Given the description of an element on the screen output the (x, y) to click on. 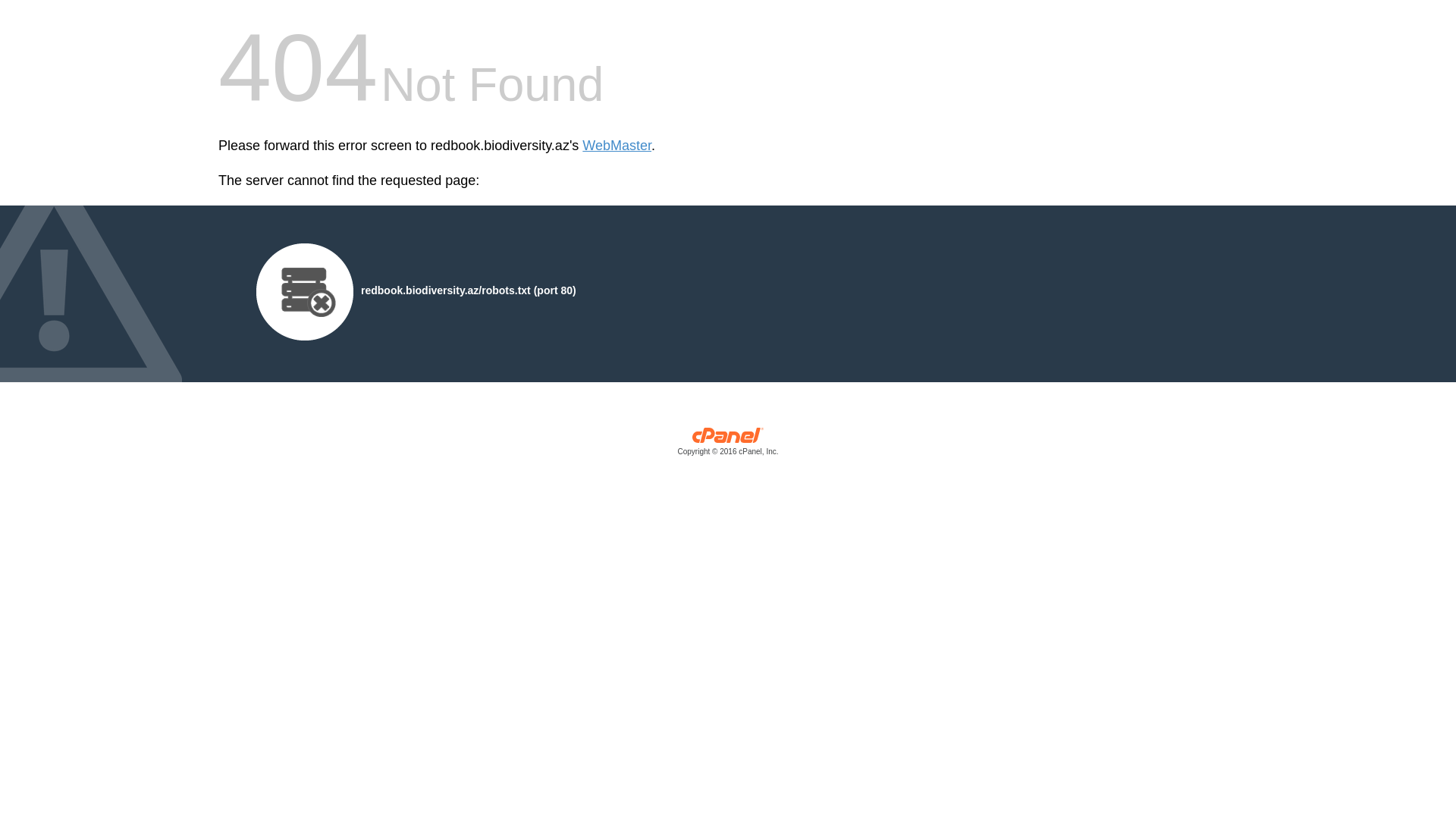
WebMaster Element type: text (616, 145)
